Given the description of an element on the screen output the (x, y) to click on. 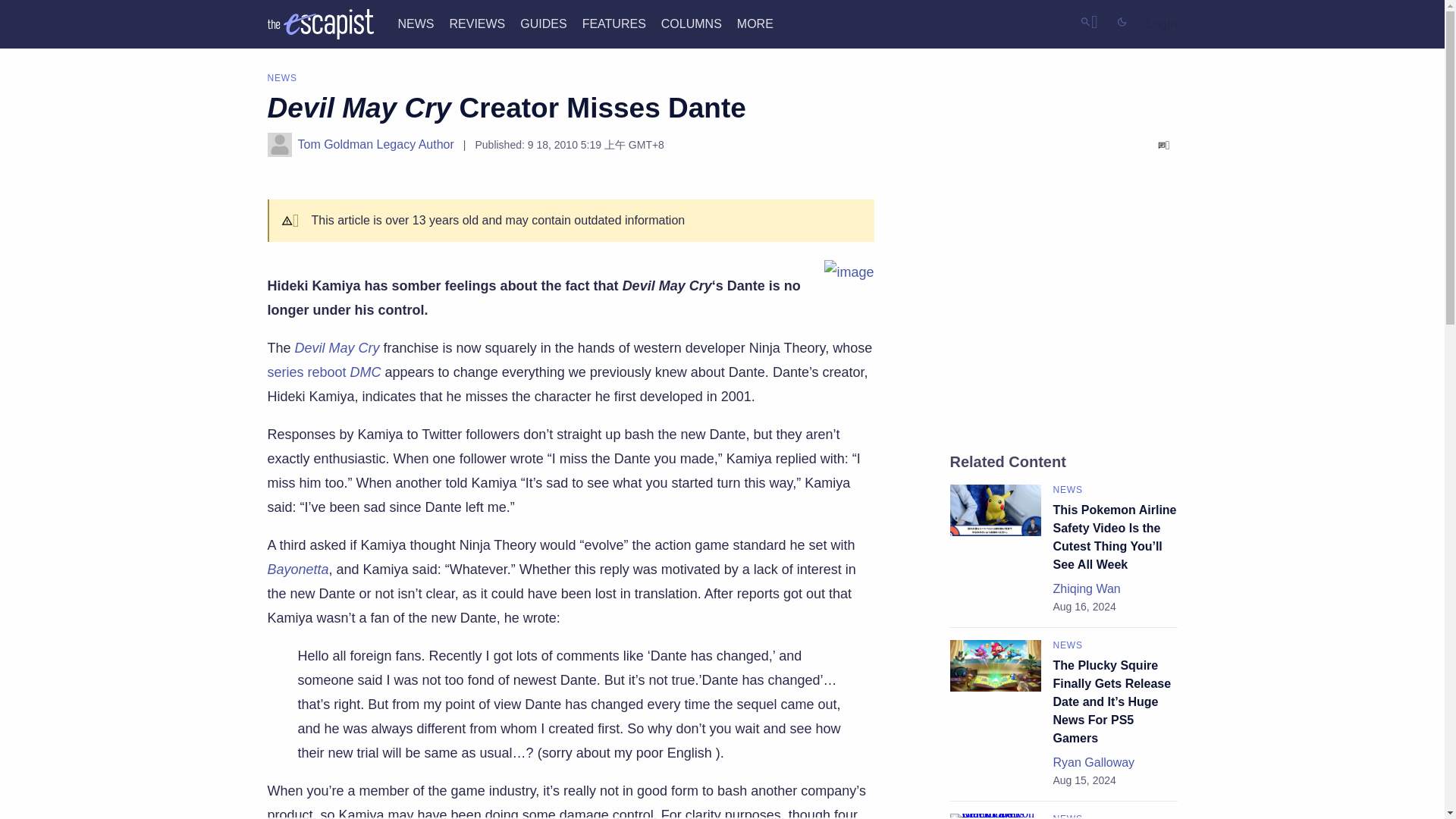
FEATURES (614, 23)
COLUMNS (691, 23)
REVIEWS (476, 23)
NEWS (415, 23)
Login (1162, 23)
Dark Mode (1124, 21)
Search (1088, 21)
GUIDES (542, 23)
